Given the description of an element on the screen output the (x, y) to click on. 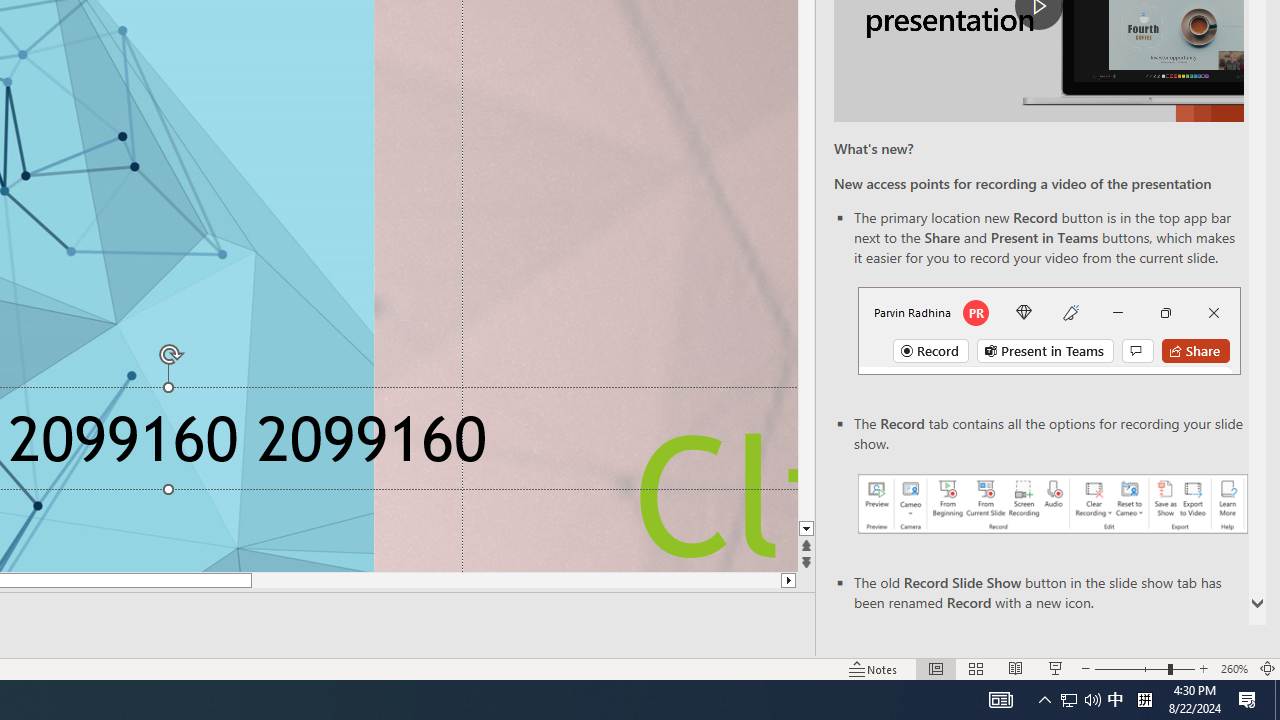
Zoom 260% (1234, 668)
Record button in top bar (1049, 331)
